Given the description of an element on the screen output the (x, y) to click on. 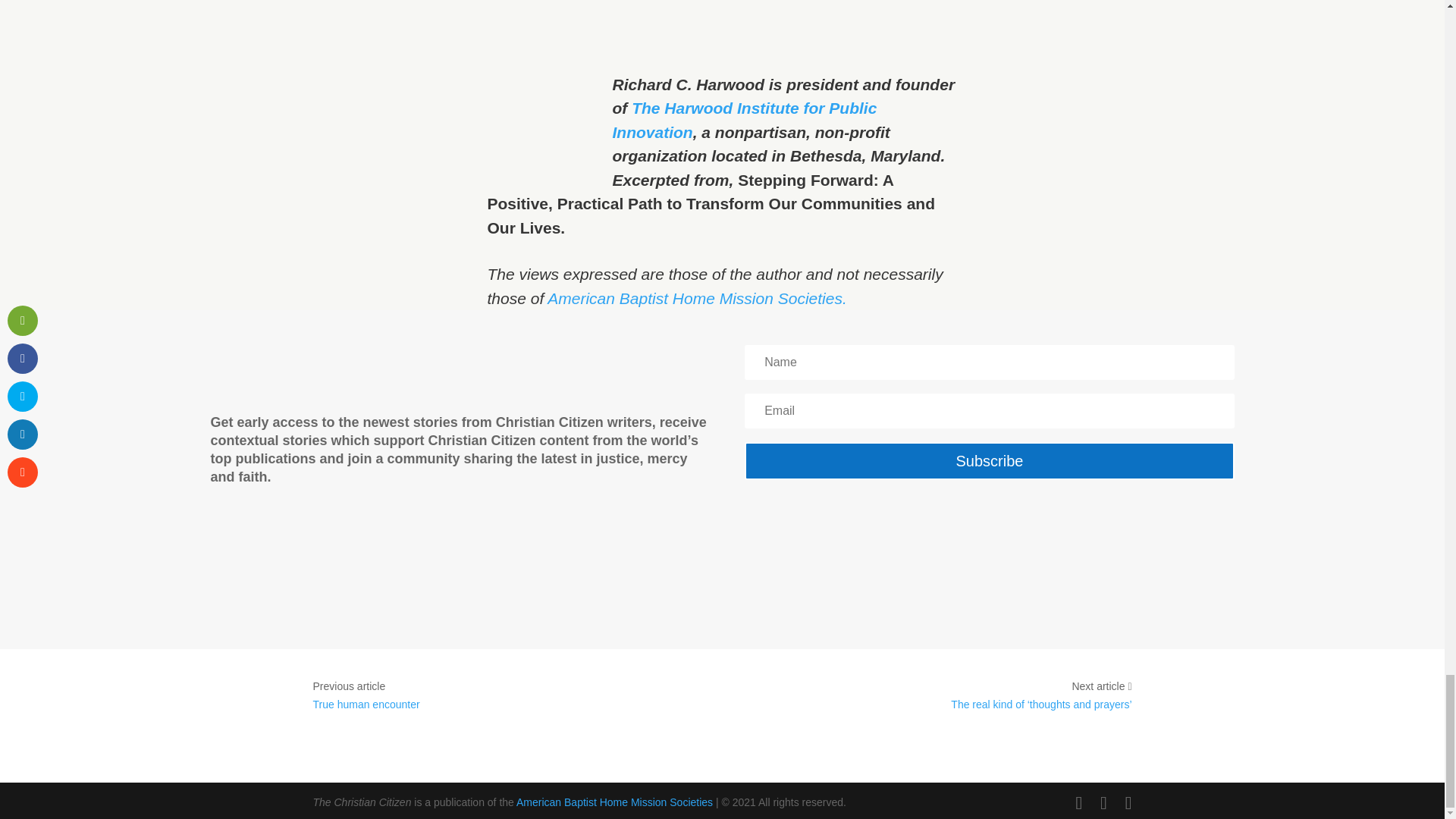
True human encounter (366, 704)
American Baptist Home Mission Societies. (696, 298)
The Harwood Institute for Public Innovation (744, 119)
American Baptist Home Mission Societies (614, 802)
Subscribe (988, 460)
